Given the description of an element on the screen output the (x, y) to click on. 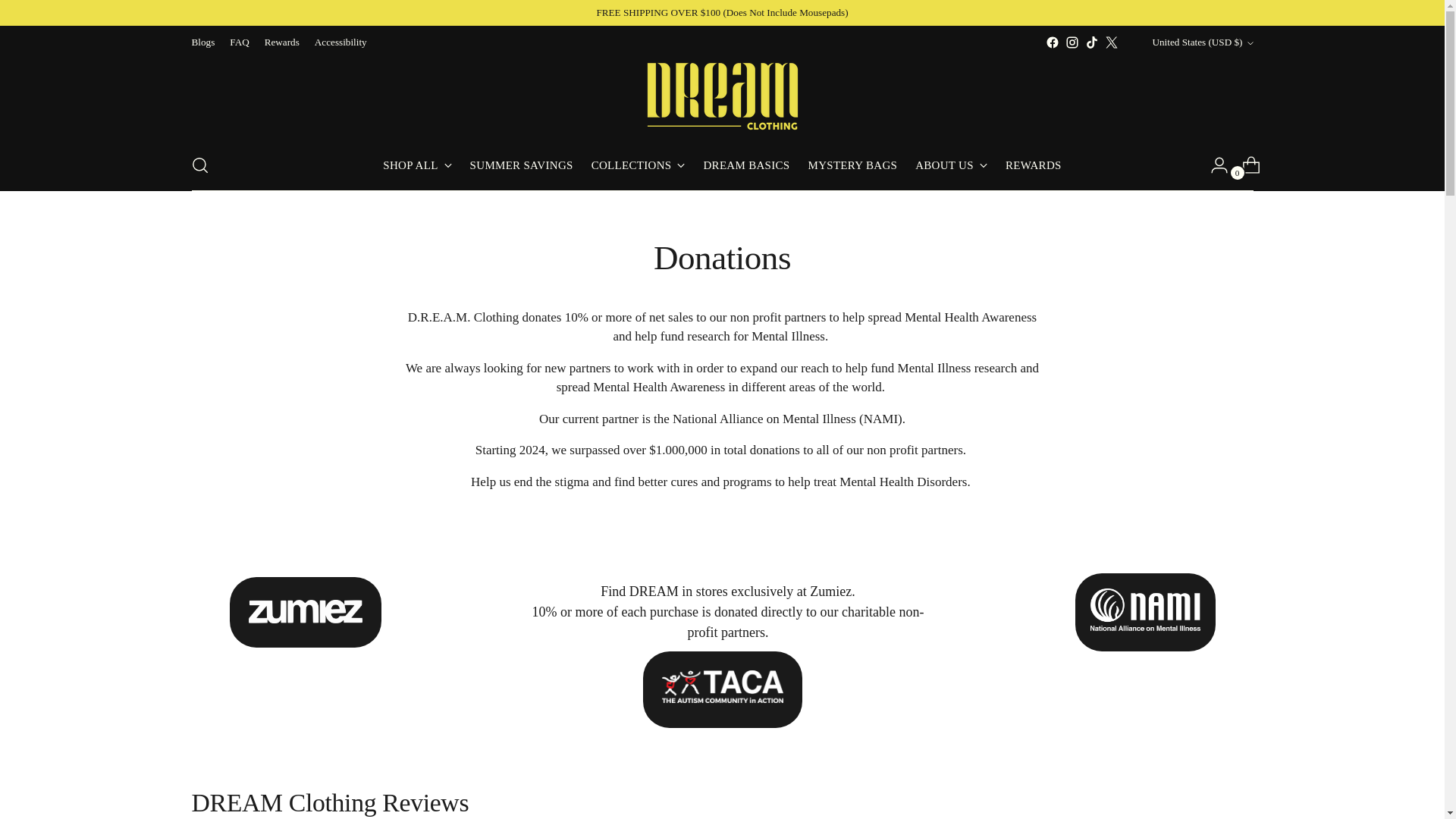
Accessibility (340, 41)
DREAM Clothing  on Twitter (1111, 42)
DREAM Clothing  on Tiktok (1091, 42)
DREAM Clothing  on Facebook (1052, 42)
DREAM Clothing  on Instagram (1071, 42)
Rewards (281, 41)
